Given the description of an element on the screen output the (x, y) to click on. 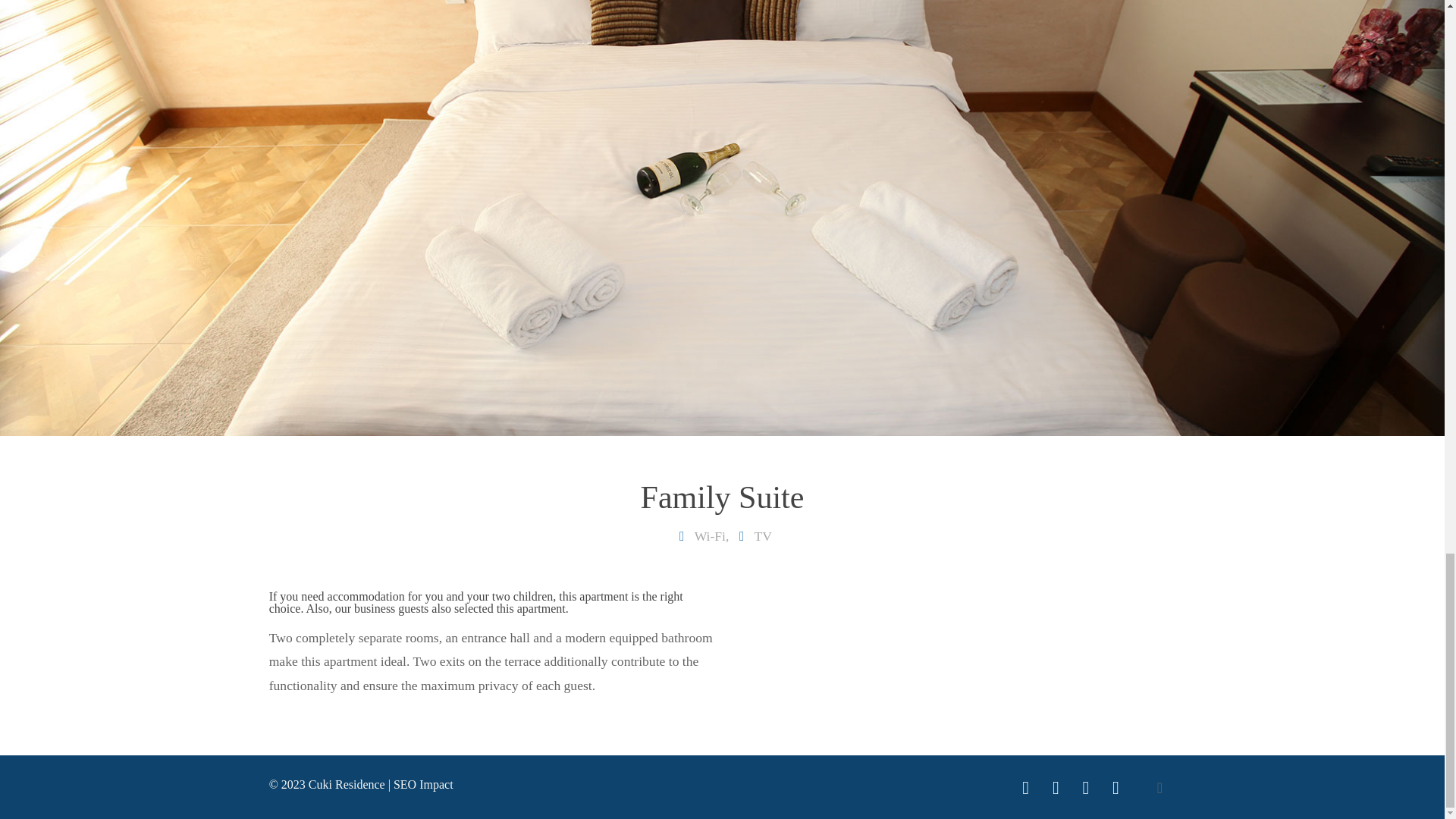
YouTube (1055, 789)
Instagram (1086, 789)
Facebook (1026, 789)
SEO Impact (422, 784)
